Given the description of an element on the screen output the (x, y) to click on. 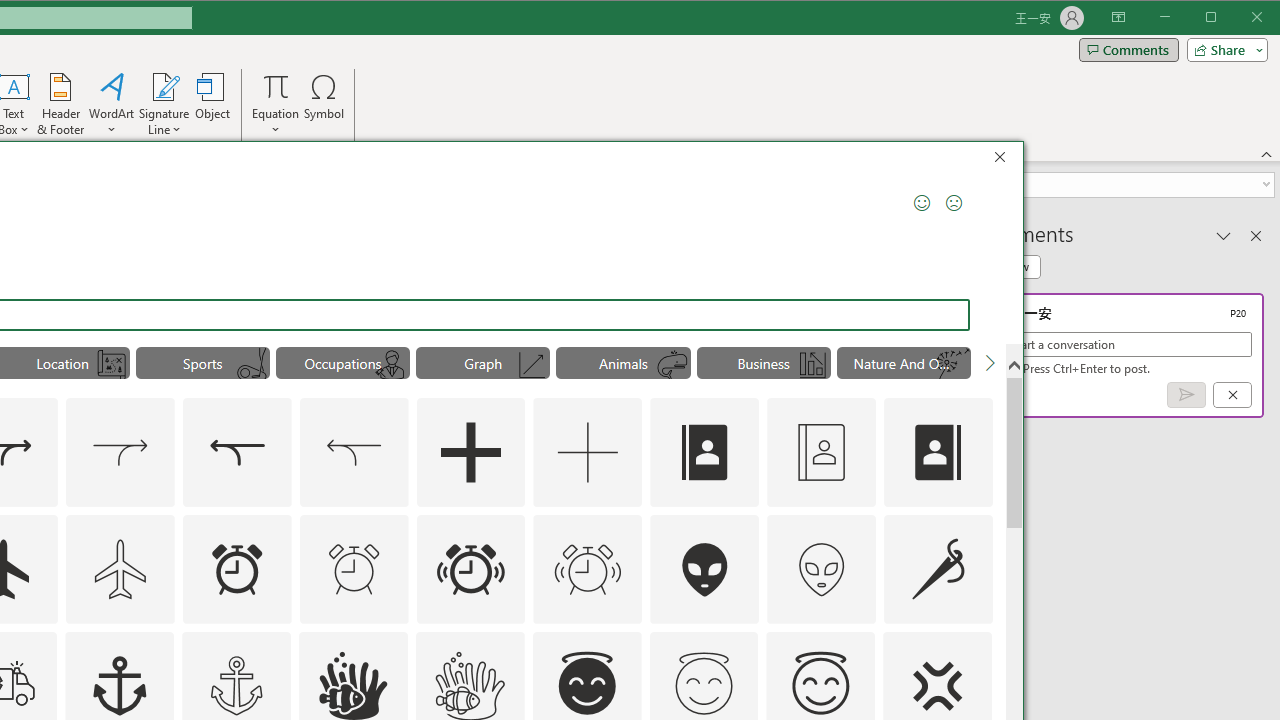
AutomationID: Icons (704, 683)
"Business" Icons. (763, 362)
Header & Footer... (60, 104)
AutomationID: Icons_AlienFace (705, 568)
outline (820, 686)
Object... (213, 104)
AutomationID: Icons_AddressBook_LTR (705, 452)
AutomationID: Icons_AddressBook_LTR_M (821, 452)
AutomationID: Icons_Acquisition_LTR_M (120, 452)
Signature Line (164, 86)
AutomationID: Icons_Add (470, 452)
AutomationID: Icons_AlterationsTailoring (938, 568)
